Given the description of an element on the screen output the (x, y) to click on. 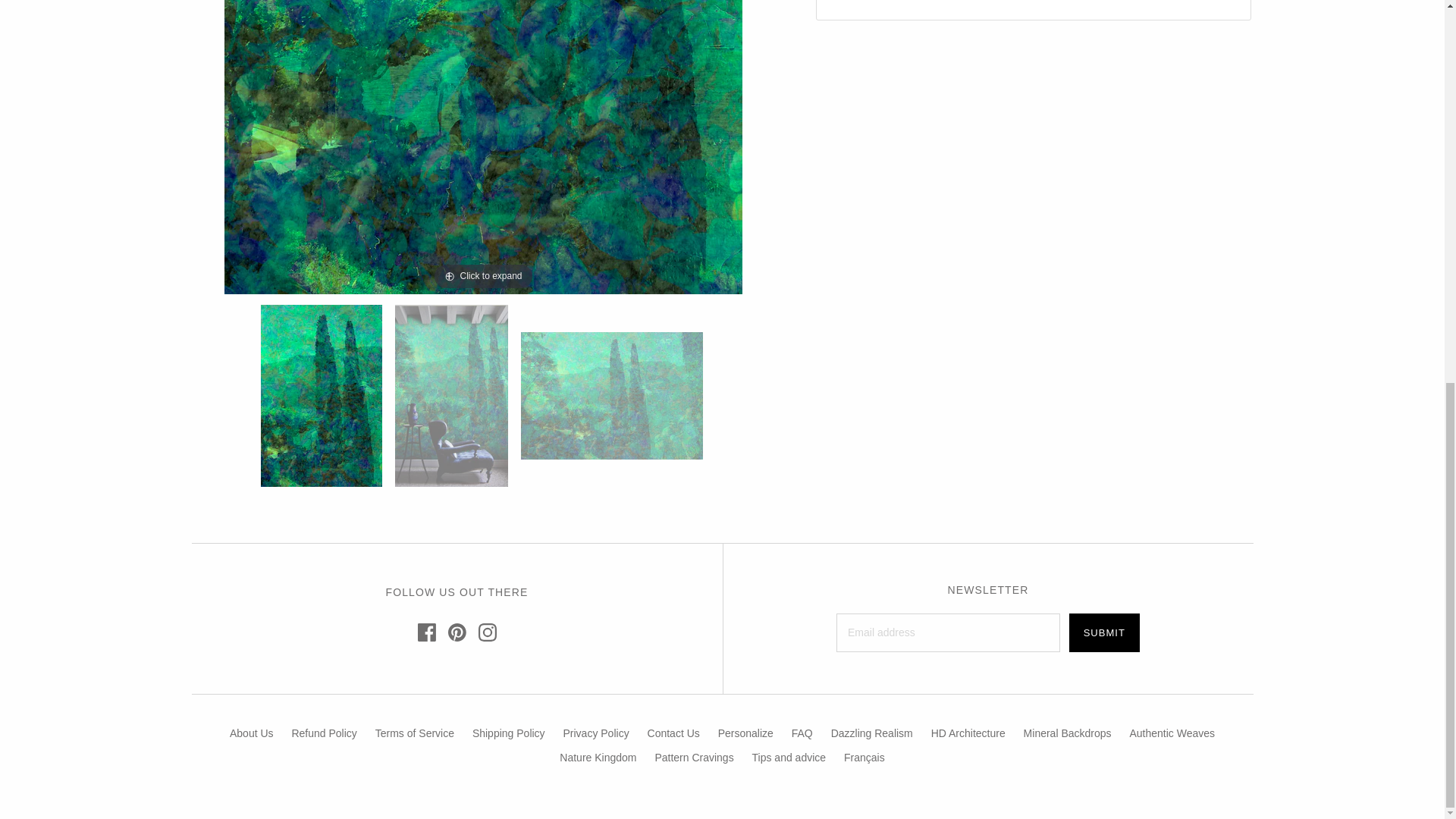
Facebook Icon (425, 632)
Pinterest Icon (455, 632)
Submit (1104, 632)
Instagram Icon (486, 632)
Trees of Lake Como Mural (613, 395)
